Given the description of an element on the screen output the (x, y) to click on. 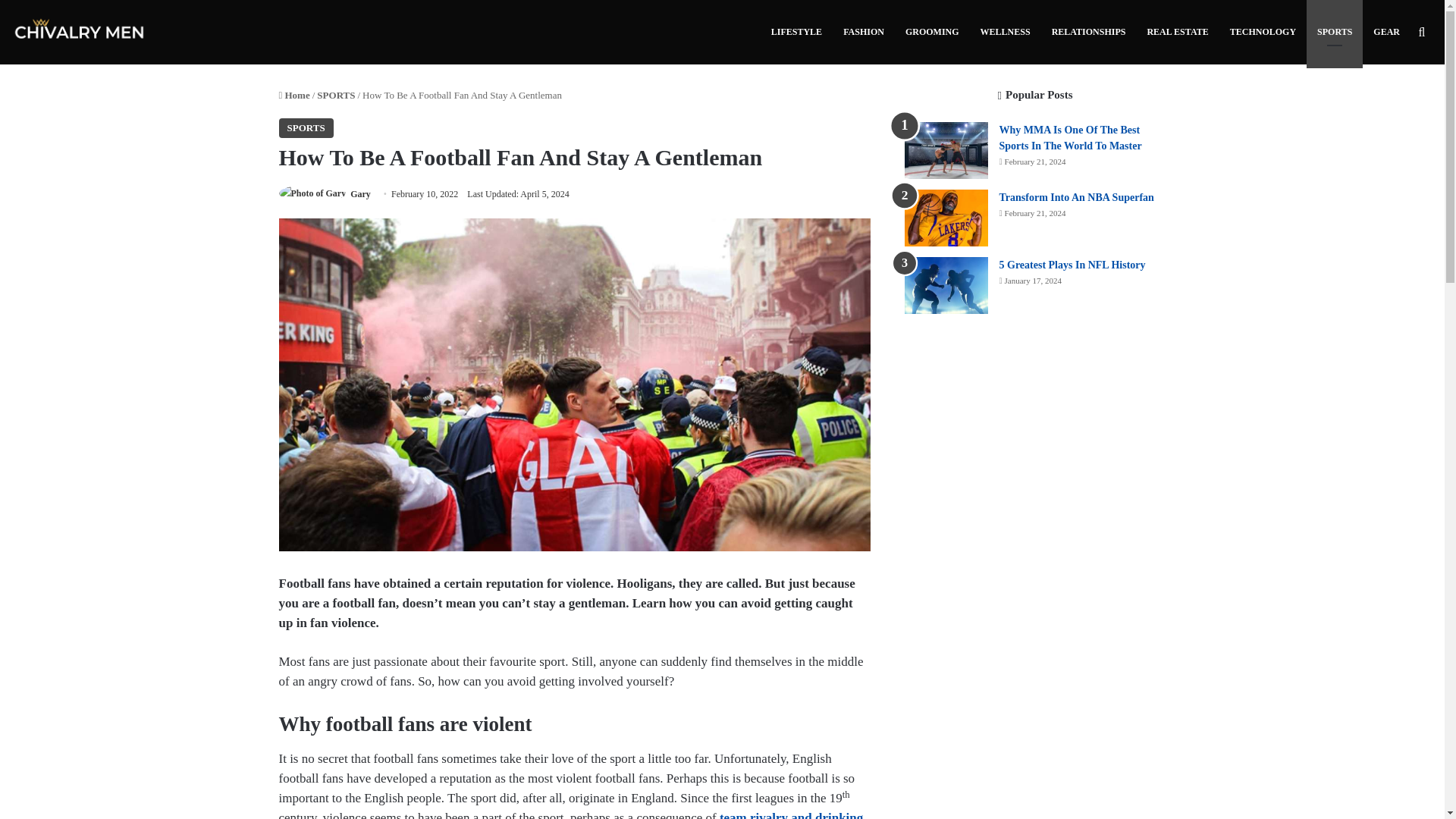
Gary (360, 194)
Home (294, 94)
RELATIONSHIPS (1089, 32)
TECHNOLOGY (1263, 32)
REAL ESTATE (1176, 32)
WELLNESS (1005, 32)
SPORTS (336, 94)
Transform Into An NBA Superfan (1076, 197)
team rivalry and drinking culture (571, 814)
SPORTS (306, 127)
Gary (360, 194)
Why MMA Is One Of The Best Sports In The World To Master (1069, 137)
Chivalry Men (79, 32)
FASHION (863, 32)
LIFESTYLE (796, 32)
